Given the description of an element on the screen output the (x, y) to click on. 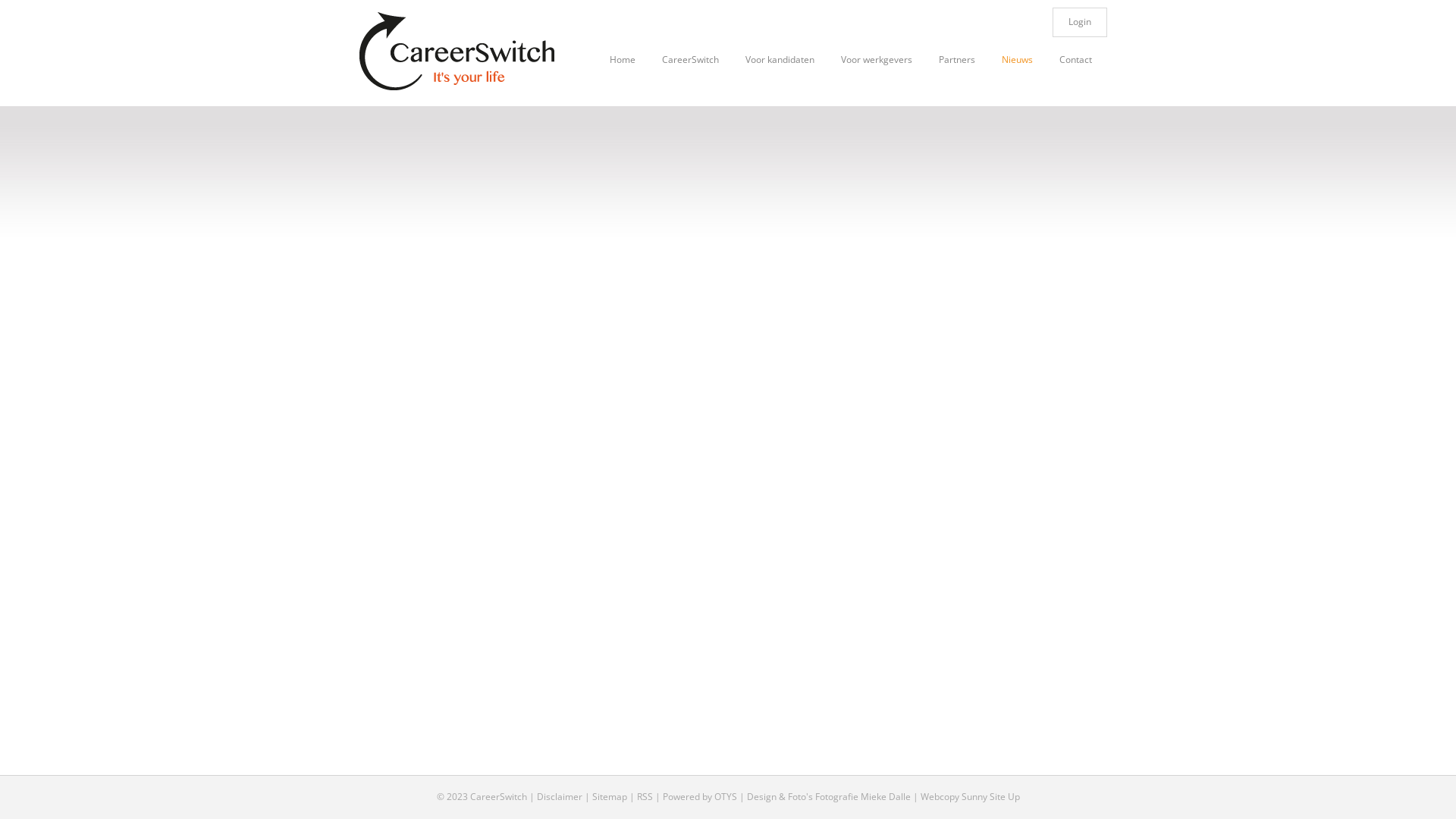
Home Element type: text (609, 63)
Voor kandidaten Element type: text (766, 63)
Contact Element type: text (1062, 63)
Partners Element type: text (943, 63)
OTYS Element type: text (725, 796)
RSS Element type: text (644, 796)
Nieuws Element type: text (1003, 63)
CareerSwitch Element type: text (676, 63)
Voor werkgevers Element type: text (863, 63)
Disclaimer Element type: text (559, 796)
Login Element type: text (1079, 22)
Sunny Site Up Element type: text (990, 796)
Fotografie Mieke Dalle Element type: text (862, 796)
Sitemap Element type: text (608, 796)
